Given the description of an element on the screen output the (x, y) to click on. 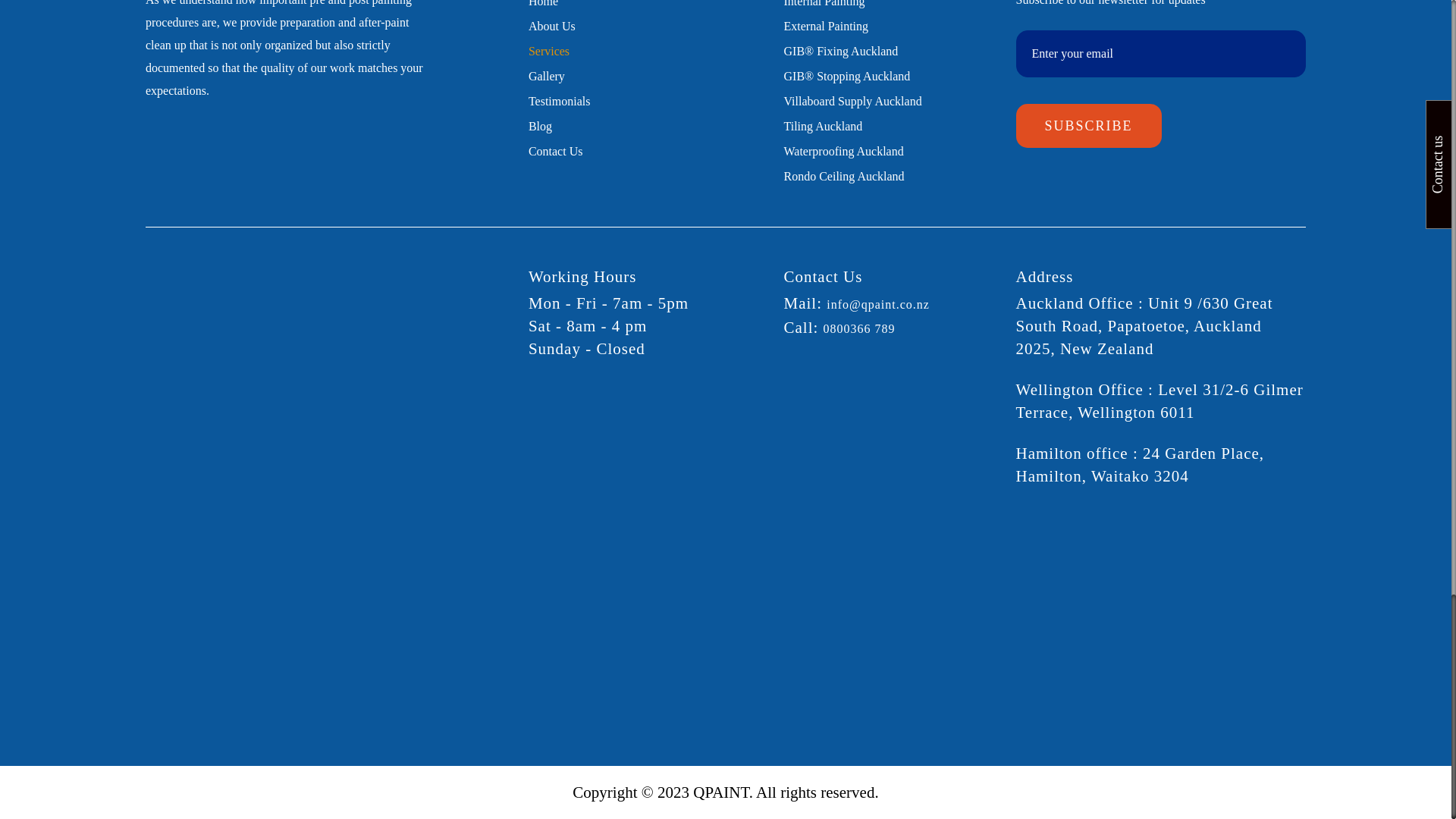
Subscribe (1088, 126)
